Given the description of an element on the screen output the (x, y) to click on. 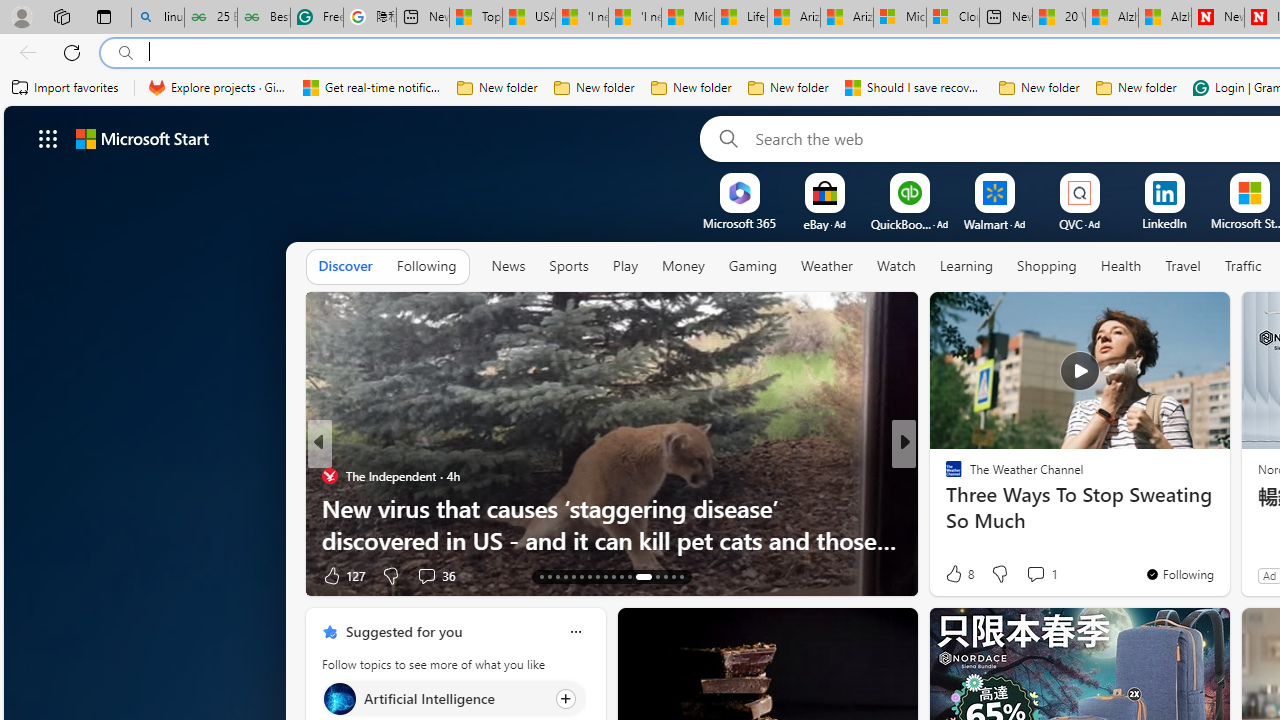
Cheapism (944, 507)
AutomationID: tab-15 (556, 576)
AutomationID: tab-23 (620, 576)
AutomationID: tab-25 (643, 576)
